Given the description of an element on the screen output the (x, y) to click on. 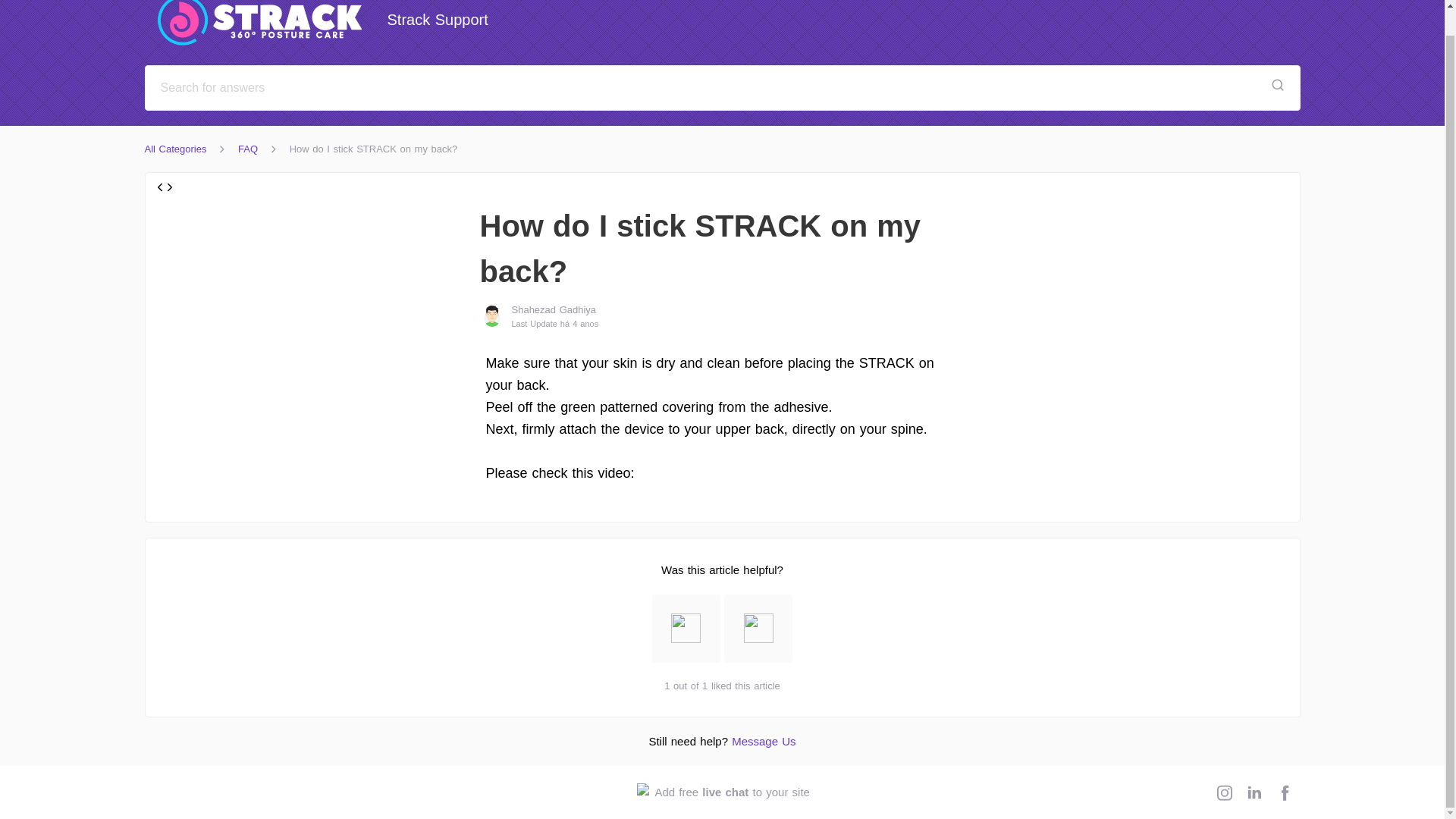
Message Us (763, 740)
Strack Support (721, 791)
All Categories (323, 24)
FAQ (175, 148)
